Given the description of an element on the screen output the (x, y) to click on. 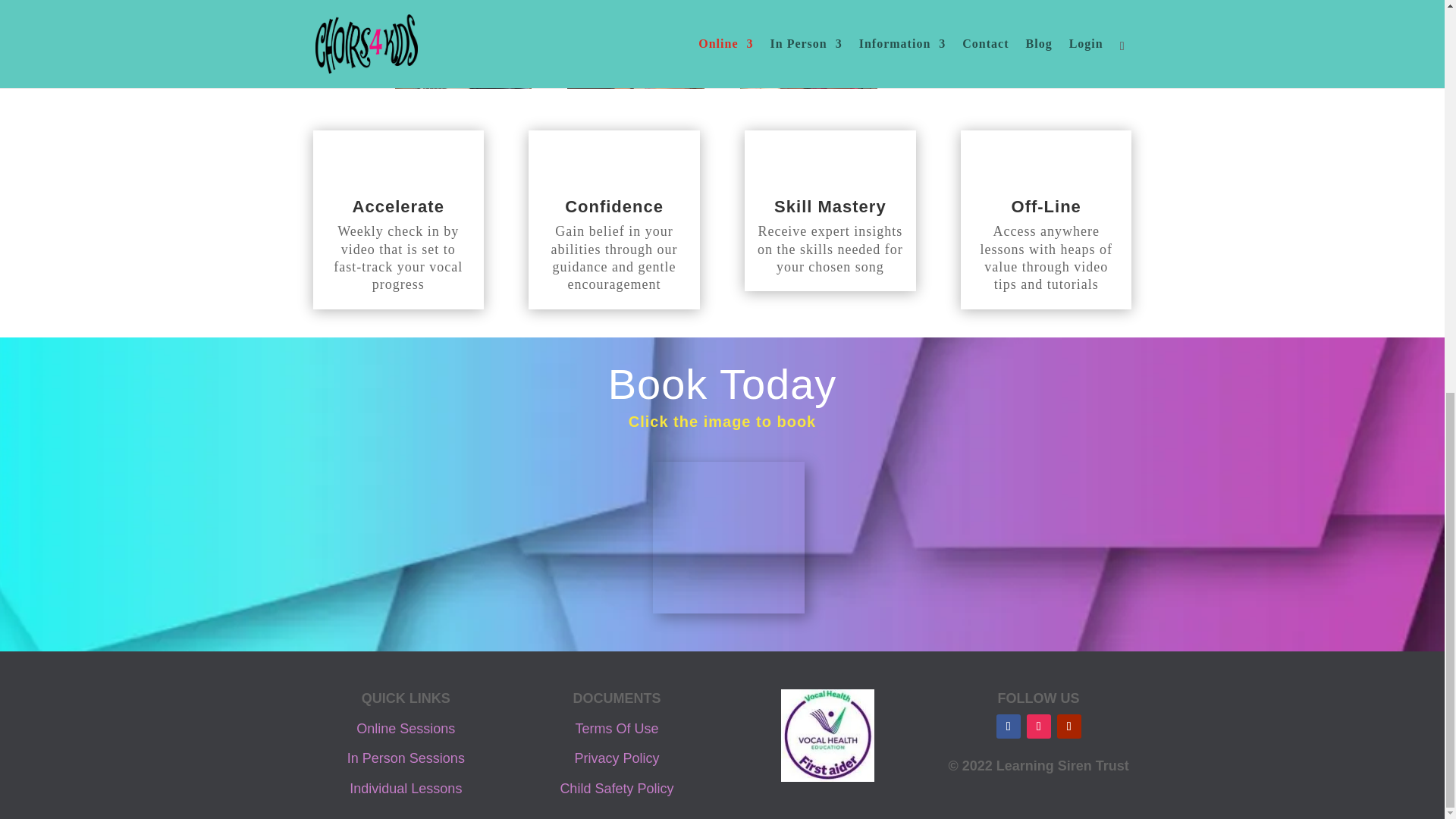
Follow on Youtube (1069, 726)
Follow on Facebook (1007, 726)
Follow on Instagram (1038, 726)
